Given the description of an element on the screen output the (x, y) to click on. 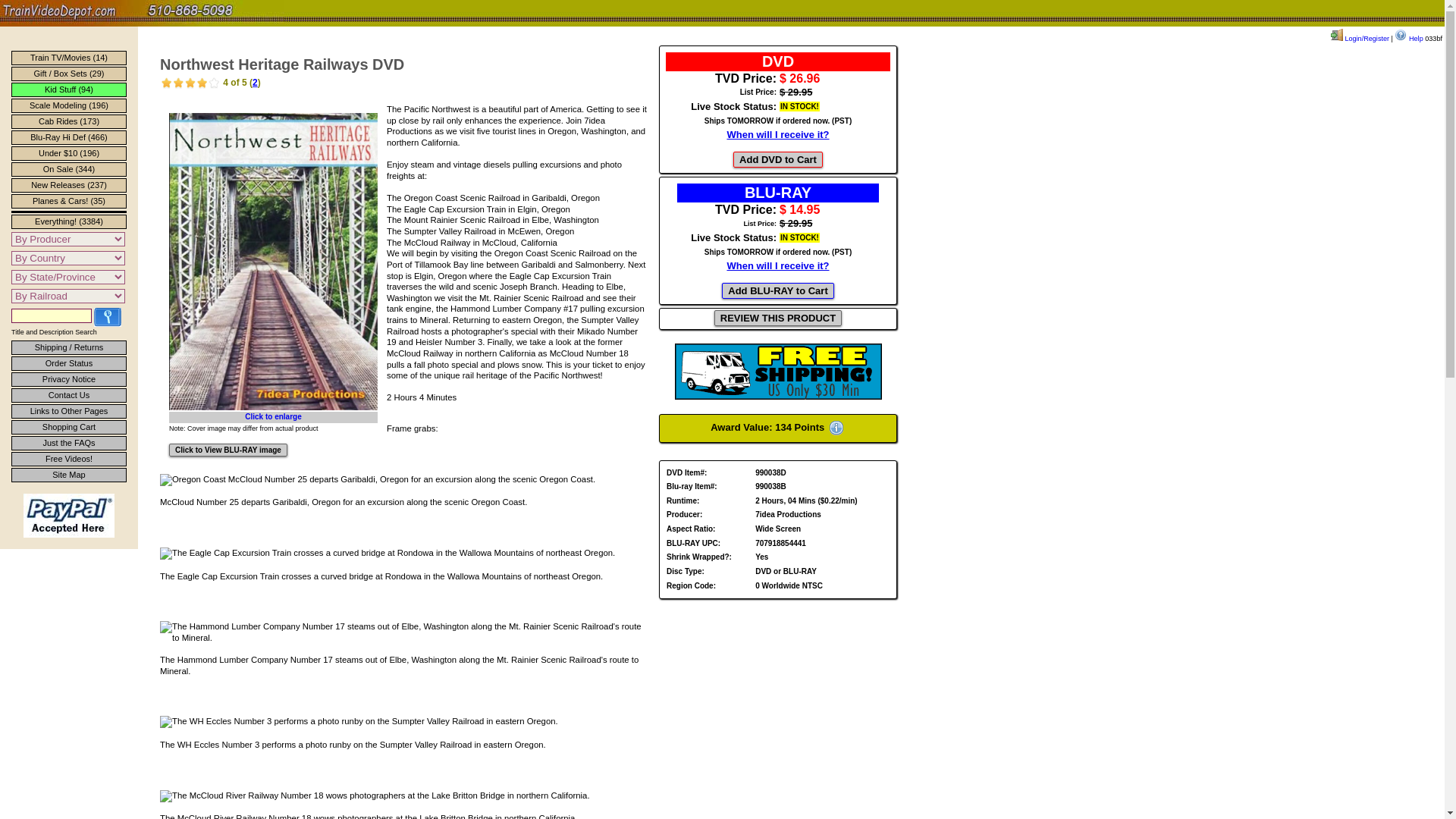
Order Status (68, 363)
Planes ... and autombiles! (68, 201)
Free Videos! (68, 459)
Privacy Notice (68, 379)
Shopping Cart (68, 427)
DVD's about Modeling (68, 105)
Add DVD to Cart (777, 159)
DVD's with Cab Rides (68, 121)
Help (1408, 38)
REVIEW THIS PRODUCT (777, 317)
